Given the description of an element on the screen output the (x, y) to click on. 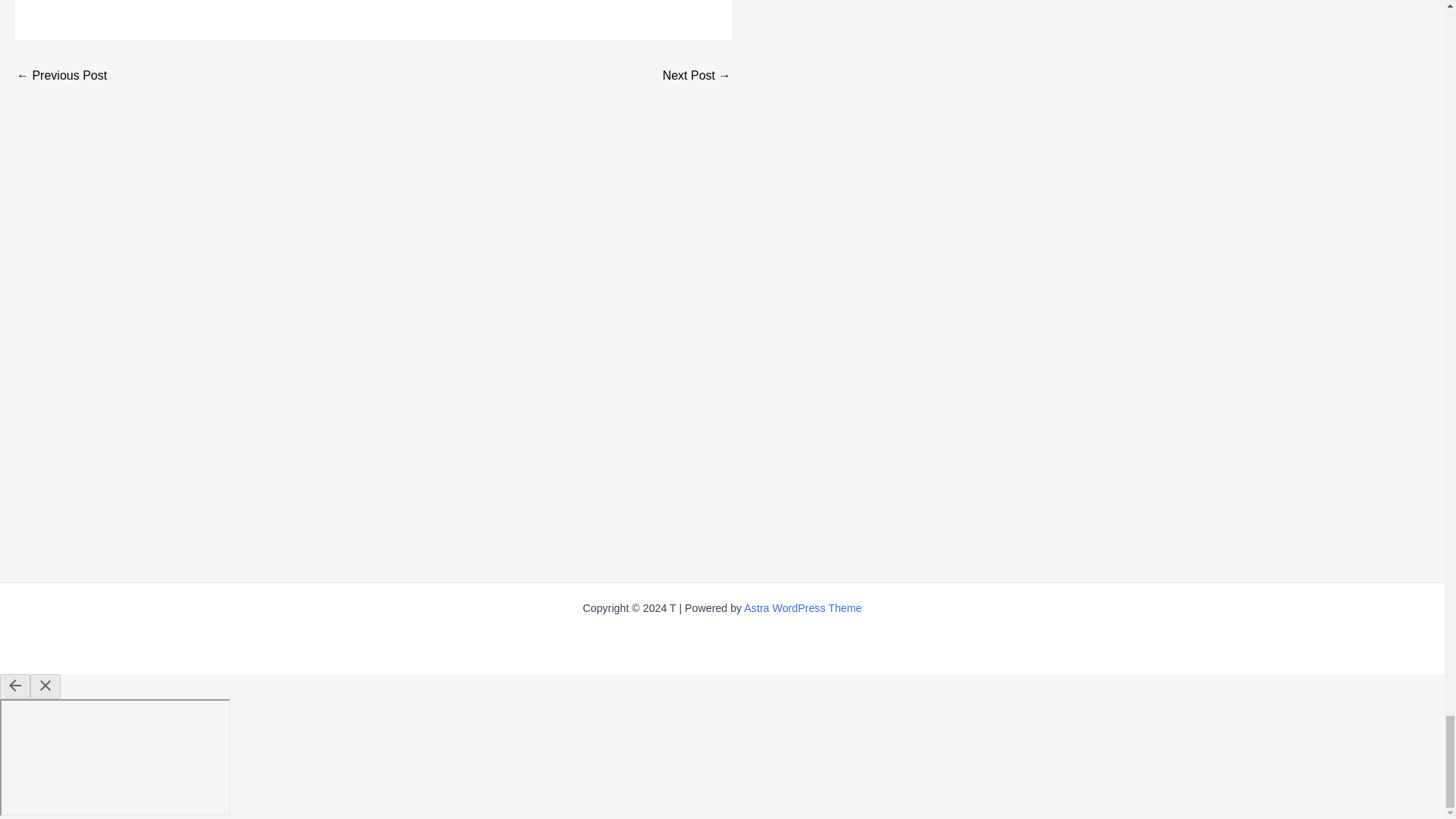
Astra WordPress Theme (802, 607)
